Given the description of an element on the screen output the (x, y) to click on. 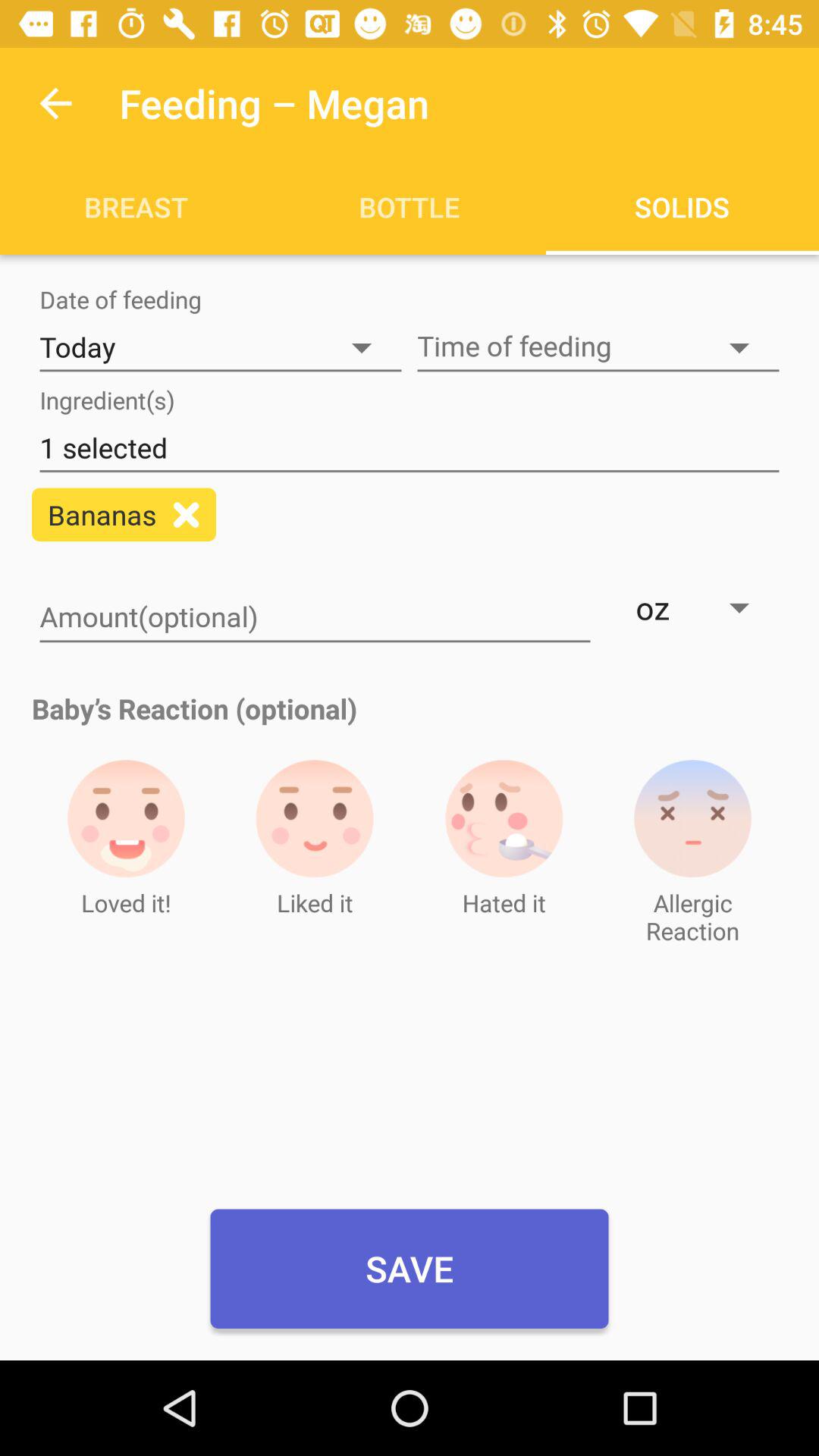
close bananas (186, 514)
